Given the description of an element on the screen output the (x, y) to click on. 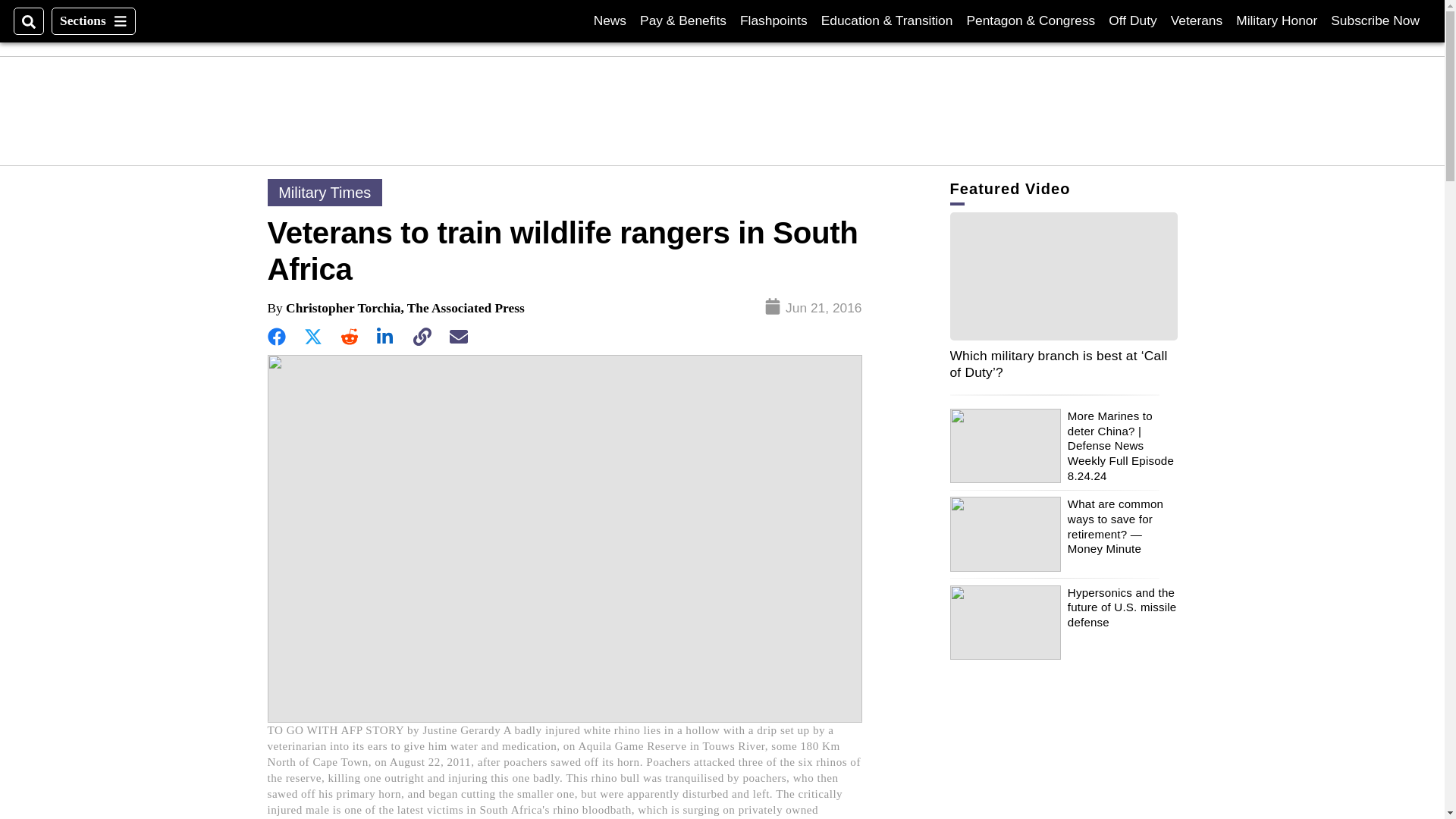
Sections (92, 21)
Flashpoints (773, 20)
News (1374, 20)
Off Duty (610, 20)
Veterans (1132, 20)
Military Honor (1196, 20)
